Given the description of an element on the screen output the (x, y) to click on. 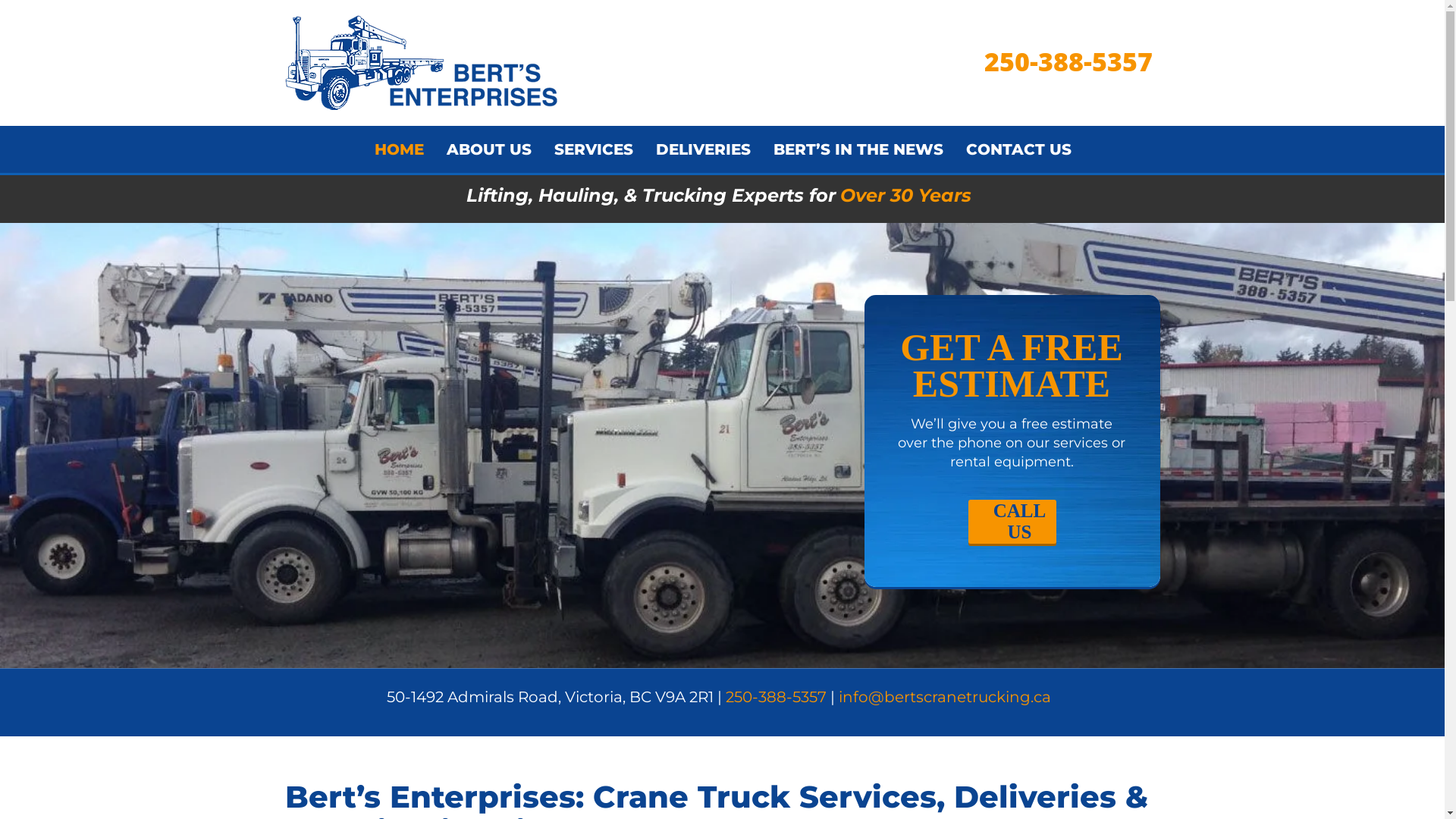
250-388-5357 Element type: text (775, 696)
SERVICES Element type: text (593, 149)
CONTACT US Element type: text (1017, 149)
ABOUT US Element type: text (488, 149)
info@bertscranetrucking.ca Element type: text (944, 696)
DELIVERIES Element type: text (703, 149)
250-388-5357 Element type: text (1068, 60)
CALL US Element type: text (1011, 521)
HOME Element type: text (398, 149)
